Given the description of an element on the screen output the (x, y) to click on. 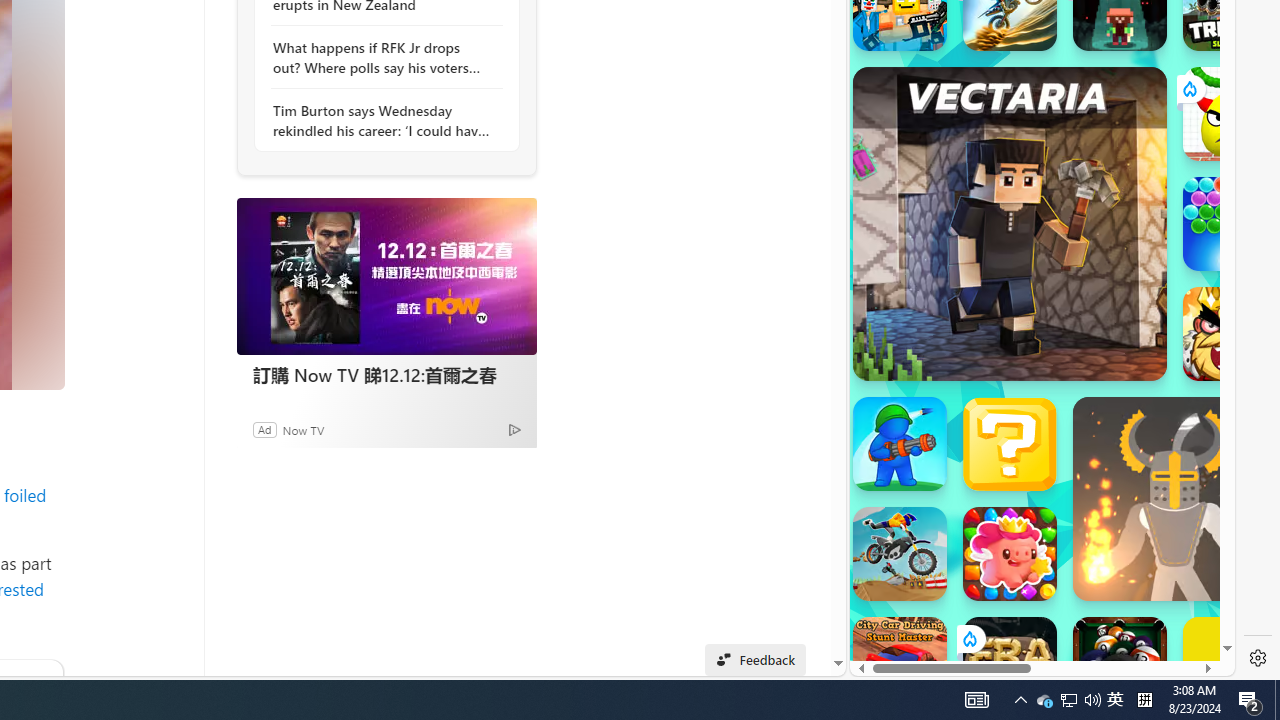
Mystery Tile (1009, 443)
Ragdoll Hit Ragdoll Hit (1174, 498)
poki.com (1092, 338)
Hills of Steel Hills of Steel poki.com (943, 245)
Hills of Steel (925, 290)
War Master (899, 443)
Poki (1034, 606)
